Given the description of an element on the screen output the (x, y) to click on. 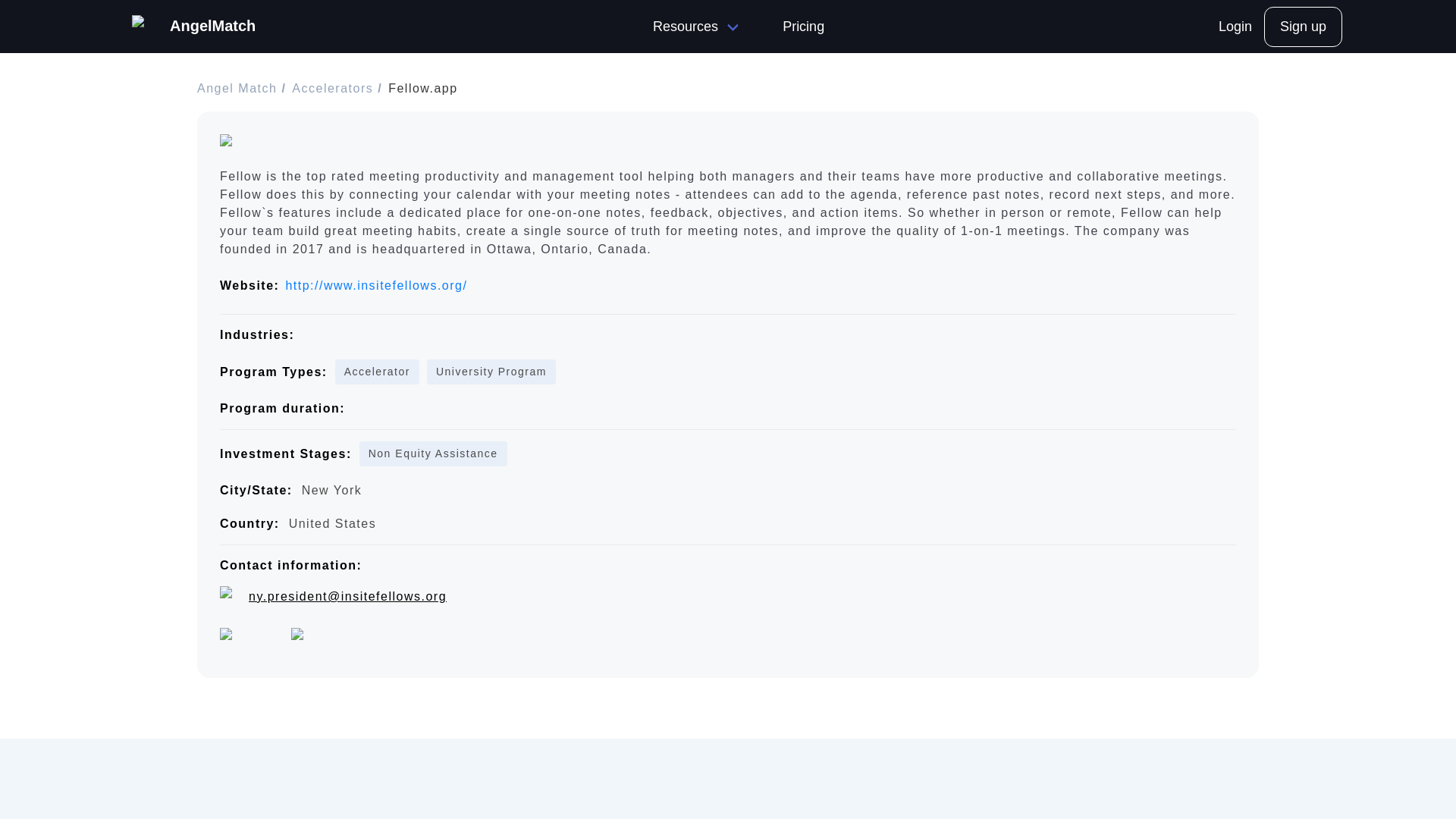
Angel Match (238, 88)
Pricing (803, 26)
AngelMatch (194, 26)
Sign up (1302, 25)
Login (1235, 26)
